Given the description of an element on the screen output the (x, y) to click on. 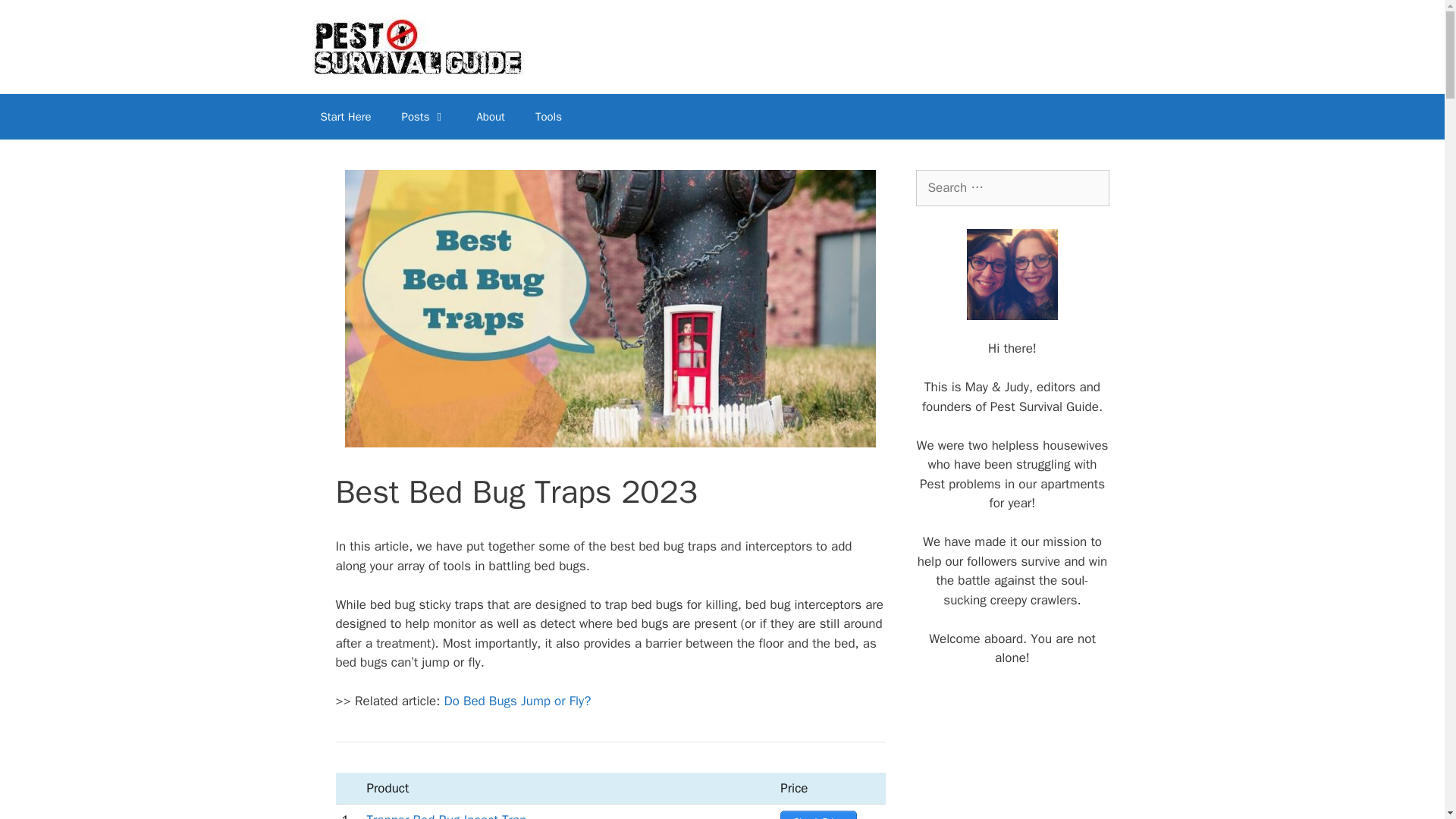
Search for: (1012, 187)
Pest Survival Guide (415, 45)
Start Here (344, 116)
Do Bed Bugs Jump or Fly? (517, 700)
Posts (424, 116)
Pest Survival Guide (415, 46)
Do Bed Bugs Jump or Fly? (517, 700)
Check Price (818, 814)
About (490, 116)
Trapper Bed Bug Insect Trap (445, 815)
Tools (547, 116)
